Given the description of an element on the screen output the (x, y) to click on. 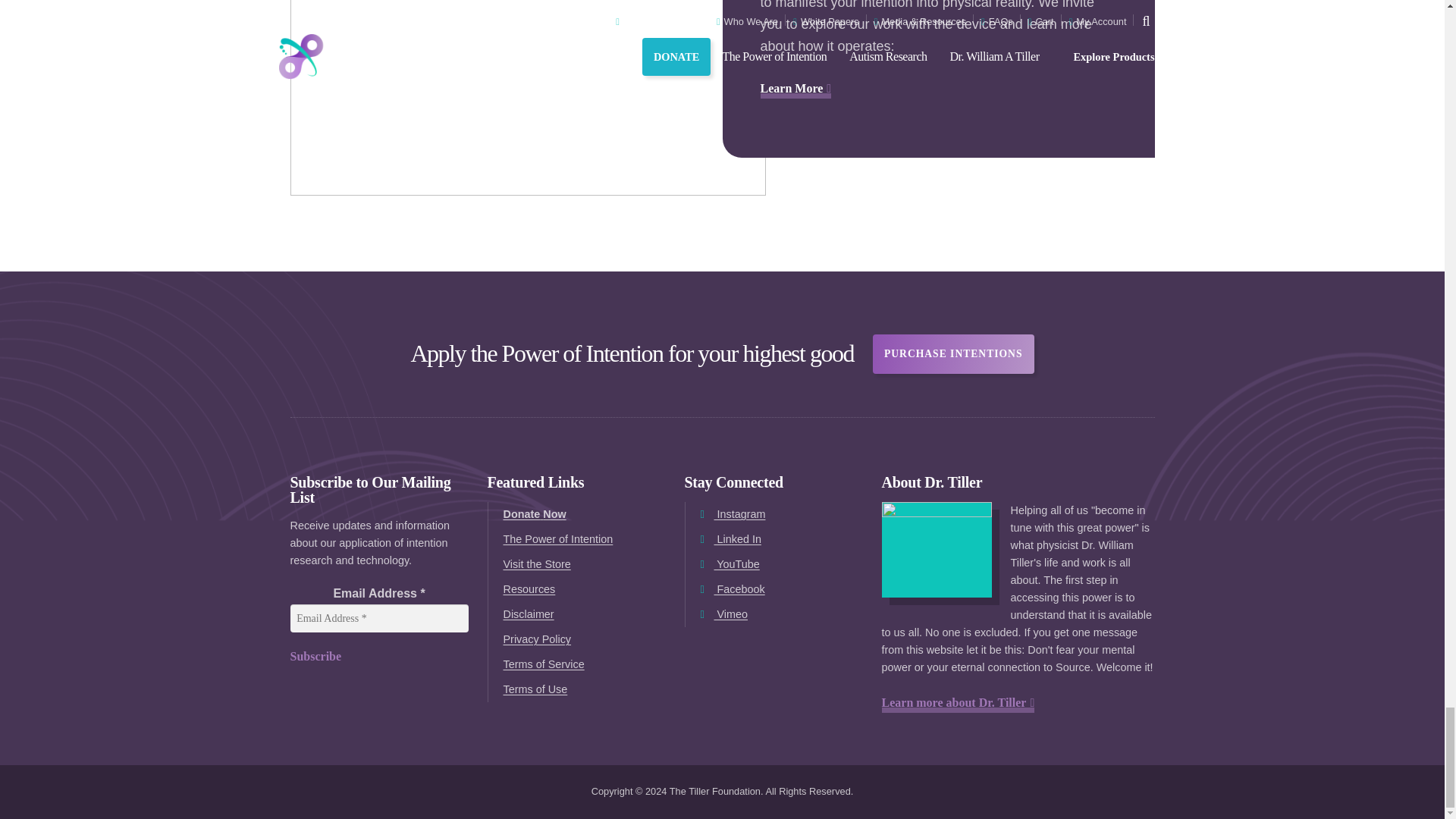
Privacy Policy (582, 639)
Subscribe (378, 656)
Terms of Service (582, 664)
Email Address (378, 618)
Disclaimer (582, 614)
PURCHASE INTENTIONS (952, 353)
Visit the Store (582, 564)
The Power of Intention (582, 539)
Donate Now (582, 514)
Resources (582, 589)
